Given the description of an element on the screen output the (x, y) to click on. 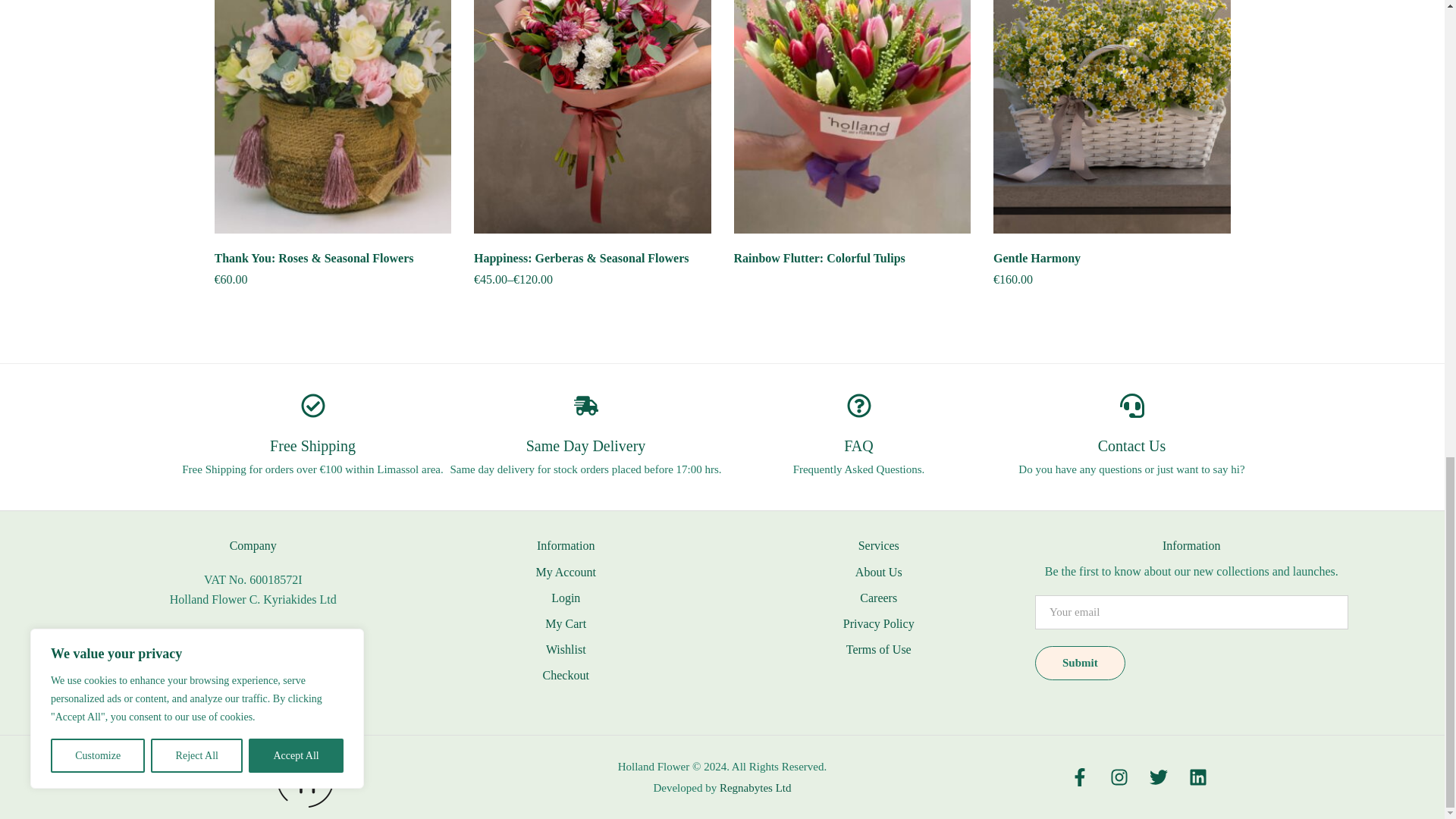
Submit (1080, 663)
site icon (304, 776)
